Given the description of an element on the screen output the (x, y) to click on. 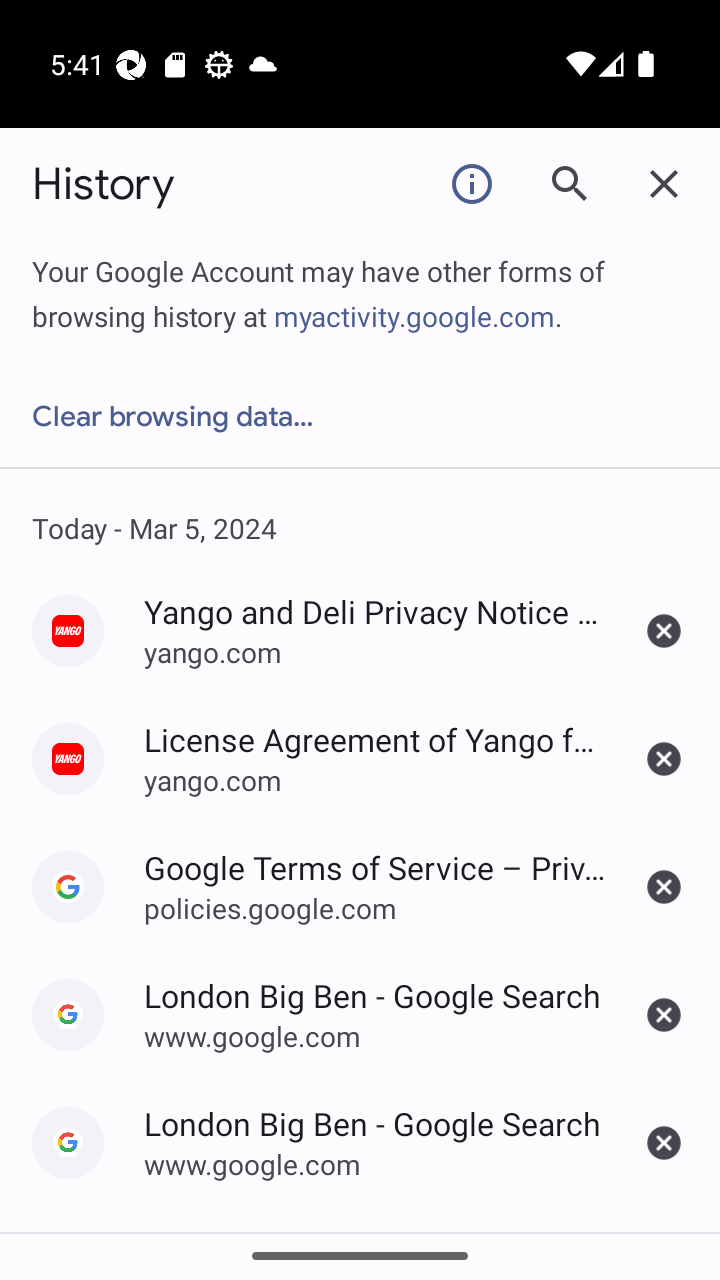
Hide Info (471, 183)
Search (567, 183)
Close (664, 183)
Clear browsing data… (360, 417)
London Big Ben - Google Search Remove (663, 1015)
London Big Ben - Google Search Remove (663, 1143)
